Given the description of an element on the screen output the (x, y) to click on. 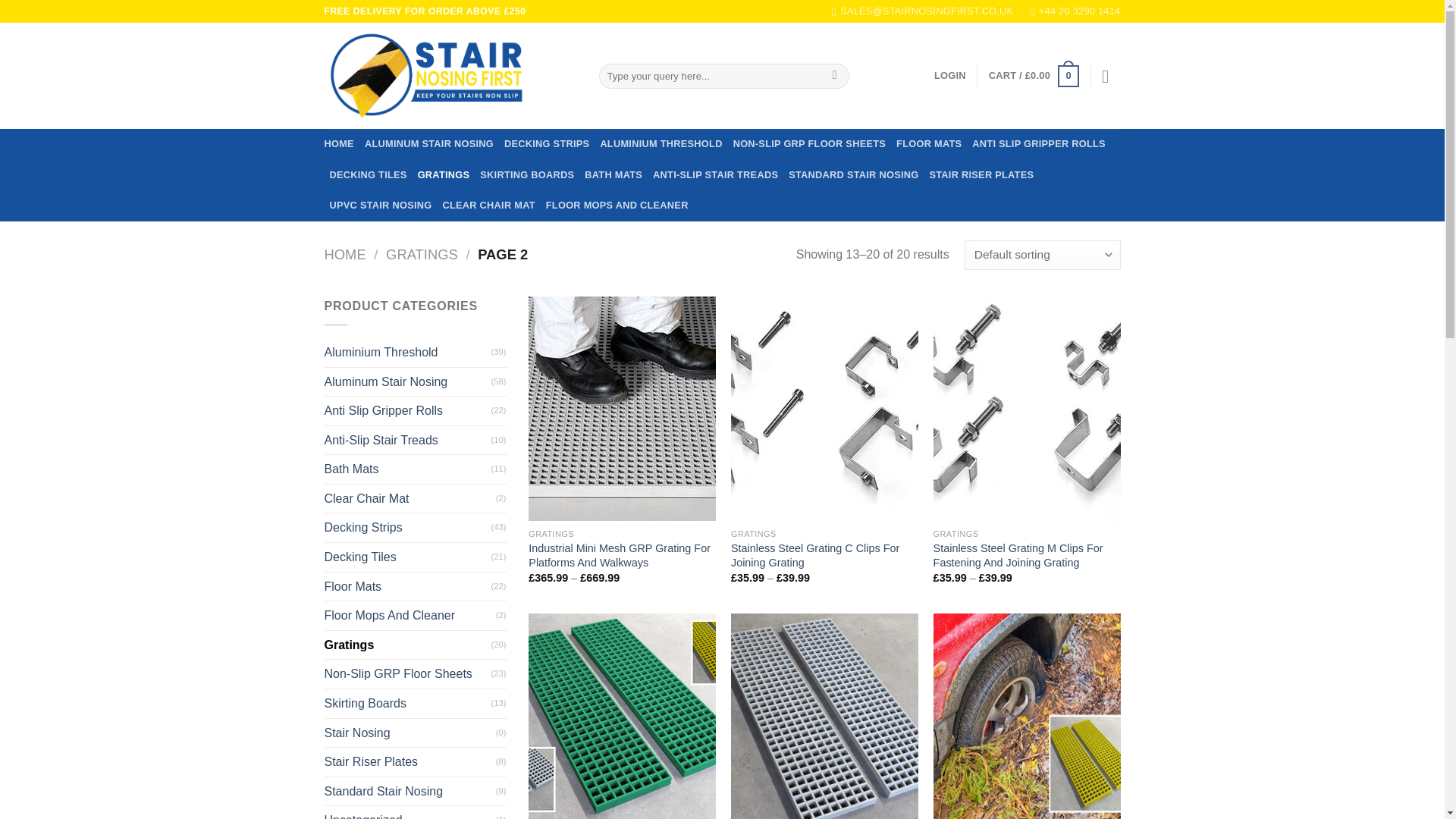
BATH MATS (613, 174)
UPVC STAIR NOSING (379, 205)
Decking Strips (408, 527)
FLOOR MOPS AND CLEANER (617, 205)
Stair Nosing First - Stairnosingfirst.co.uk (450, 75)
Floor Mops And Cleaner (410, 615)
ALUMINUM STAIR NOSING (429, 143)
Search (834, 76)
Anti-Slip Stair Treads (408, 440)
Bath Mats (408, 469)
GRATINGS (443, 174)
LOGIN (950, 75)
Cart (1033, 76)
Floor Mats (408, 586)
SKIRTING BOARDS (526, 174)
